Given the description of an element on the screen output the (x, y) to click on. 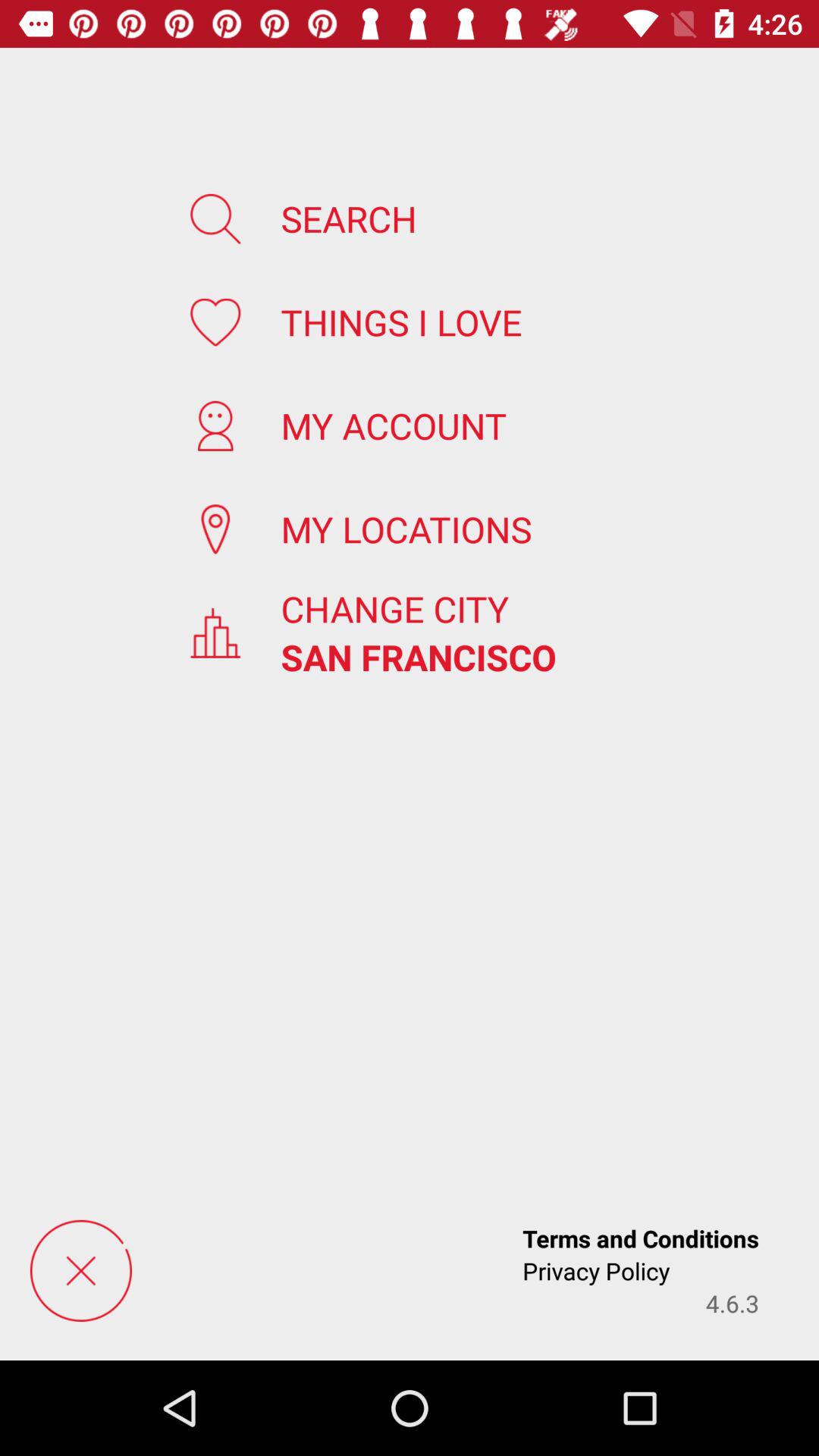
open app to the left of terms and conditions app (80, 1270)
